Given the description of an element on the screen output the (x, y) to click on. 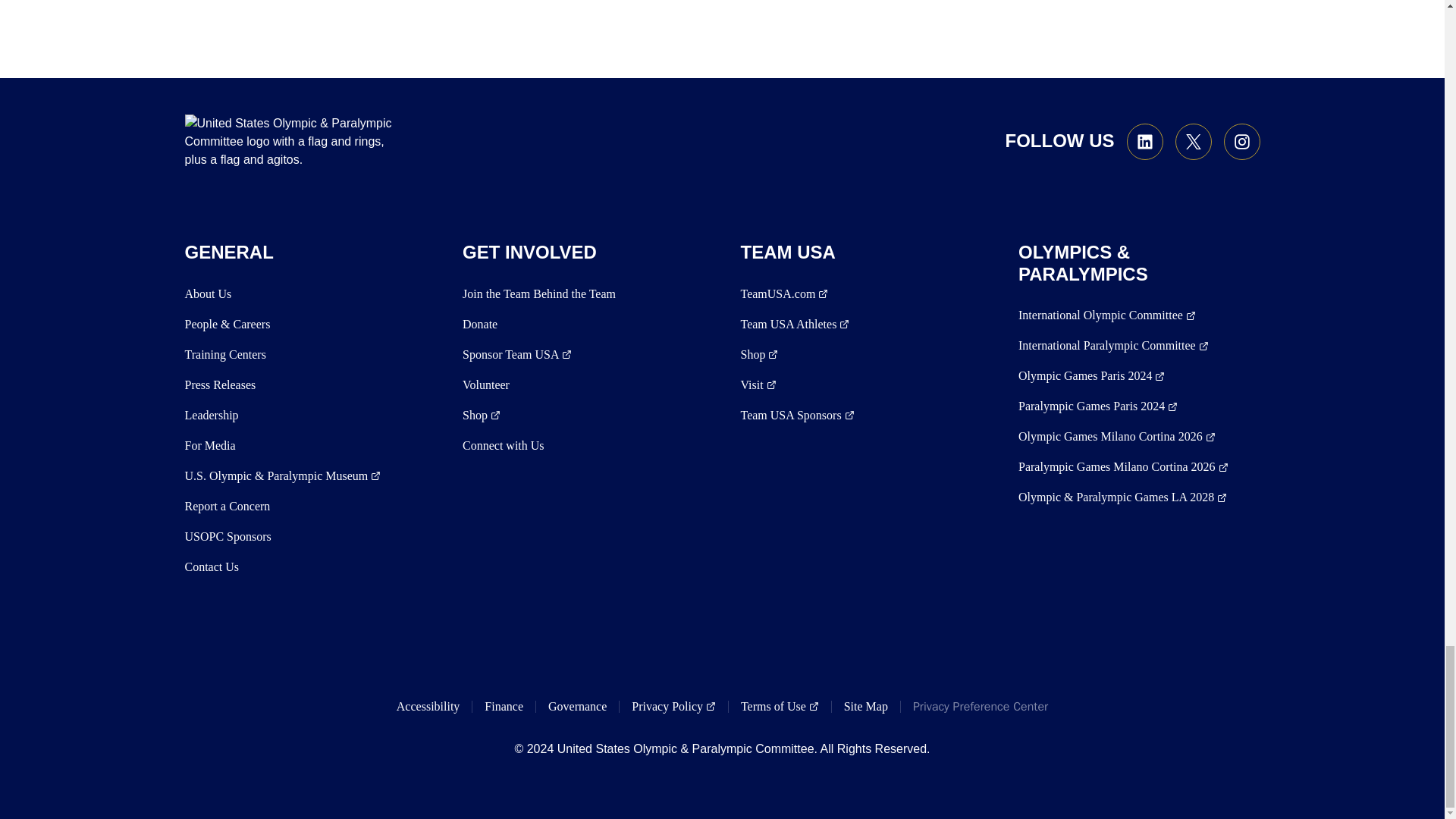
Go to Twitter (1192, 141)
USOPC Sponsors (227, 536)
About Us (207, 294)
Press Releases (220, 384)
Training Centers (225, 354)
Go to Instagram (1242, 141)
Report a Concern (227, 506)
Go to LinkedIn (1144, 141)
For Media (209, 445)
Leadership (211, 415)
